Given the description of an element on the screen output the (x, y) to click on. 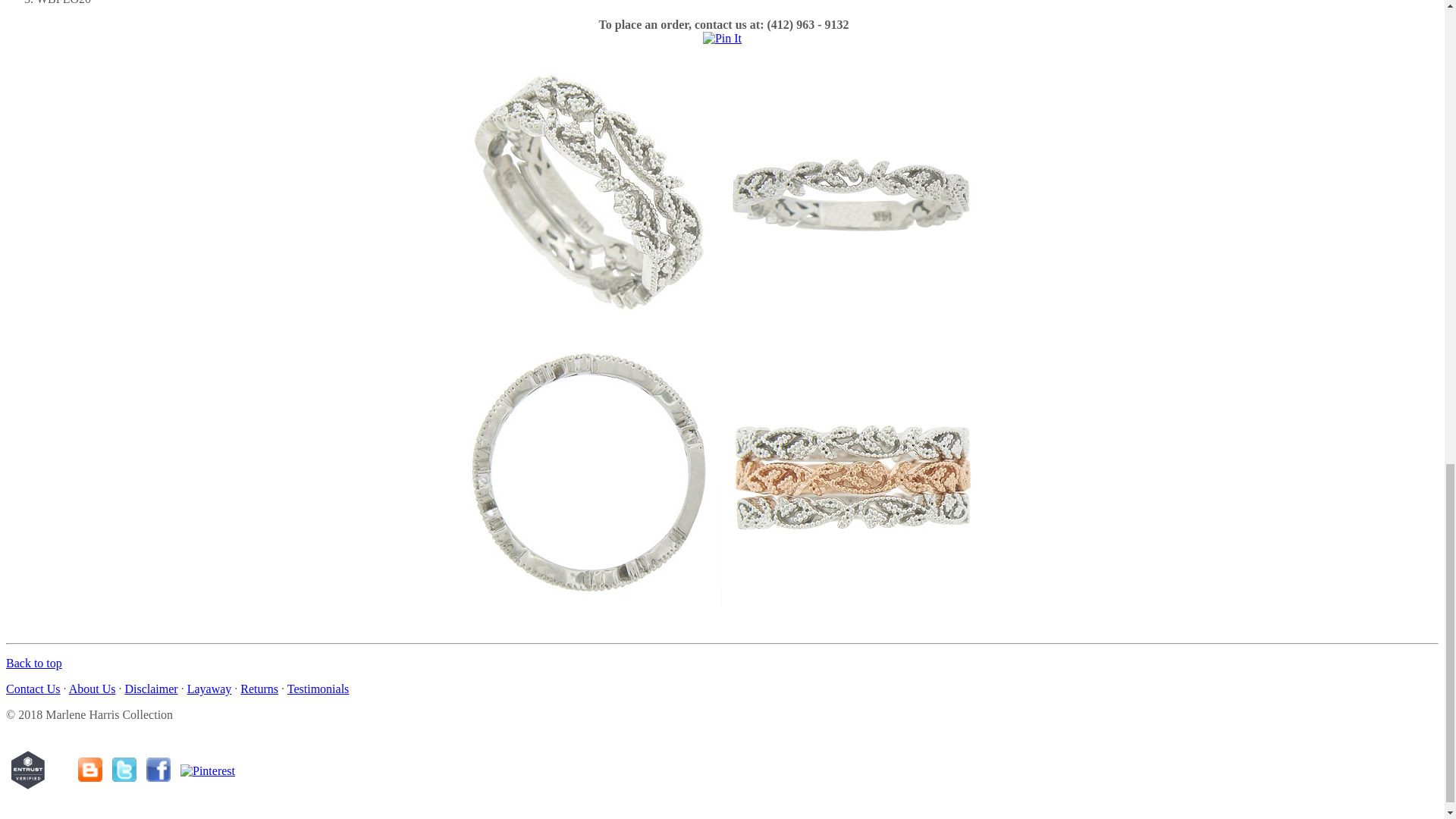
Pin It (722, 38)
